Given the description of an element on the screen output the (x, y) to click on. 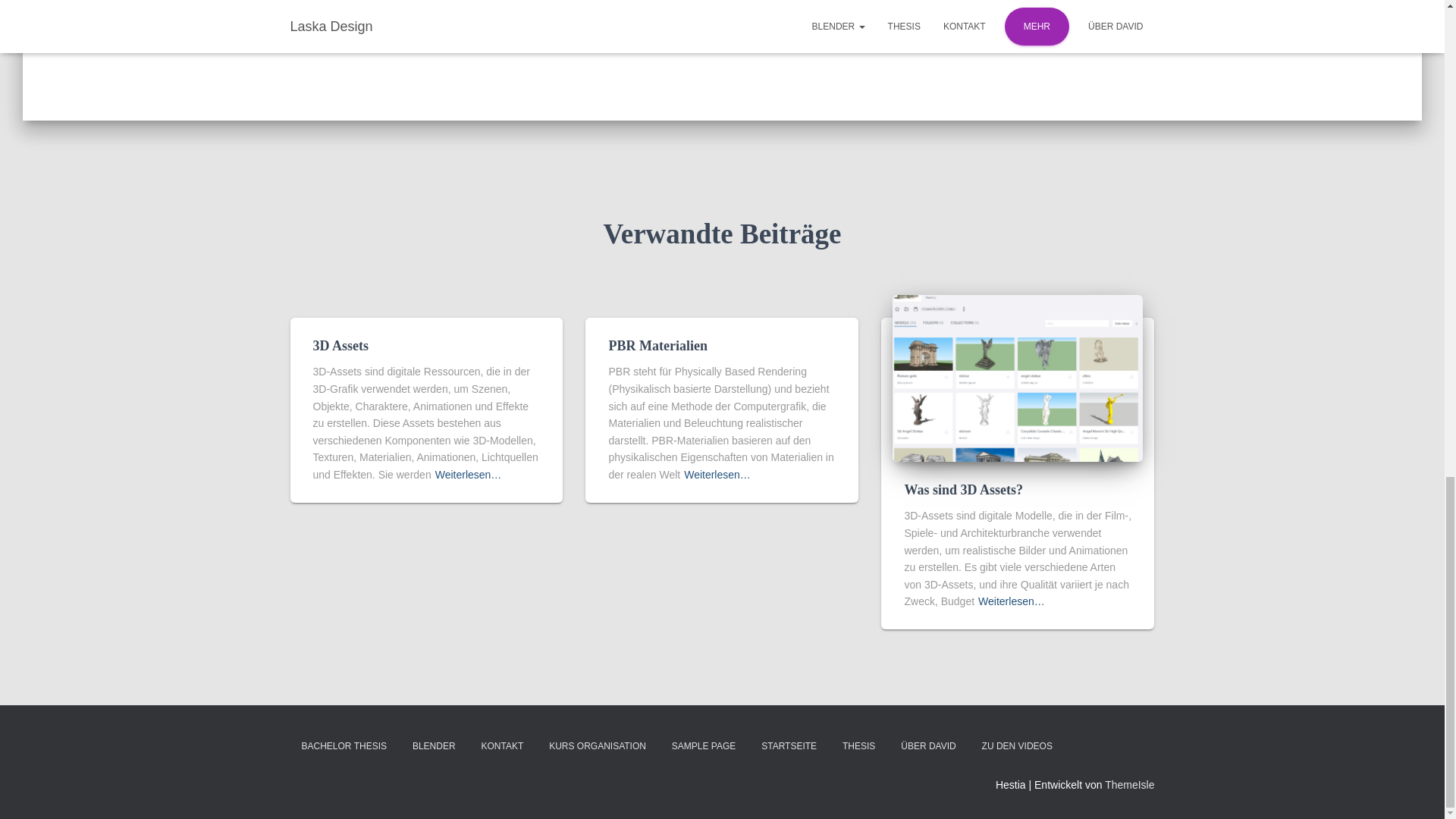
ThemeIsle (1129, 784)
STARTSEITE (788, 746)
BACHELOR THESIS (343, 746)
PBR Materialien (657, 345)
3D Assets (340, 345)
Was sind 3D Assets? (963, 489)
THESIS (858, 746)
BLENDER (434, 746)
ZU DEN VIDEOS (1017, 746)
Was sind 3D Assets? (963, 489)
SAMPLE PAGE (703, 746)
KURS ORGANISATION (597, 746)
PBR Materialien (657, 345)
